Given the description of an element on the screen output the (x, y) to click on. 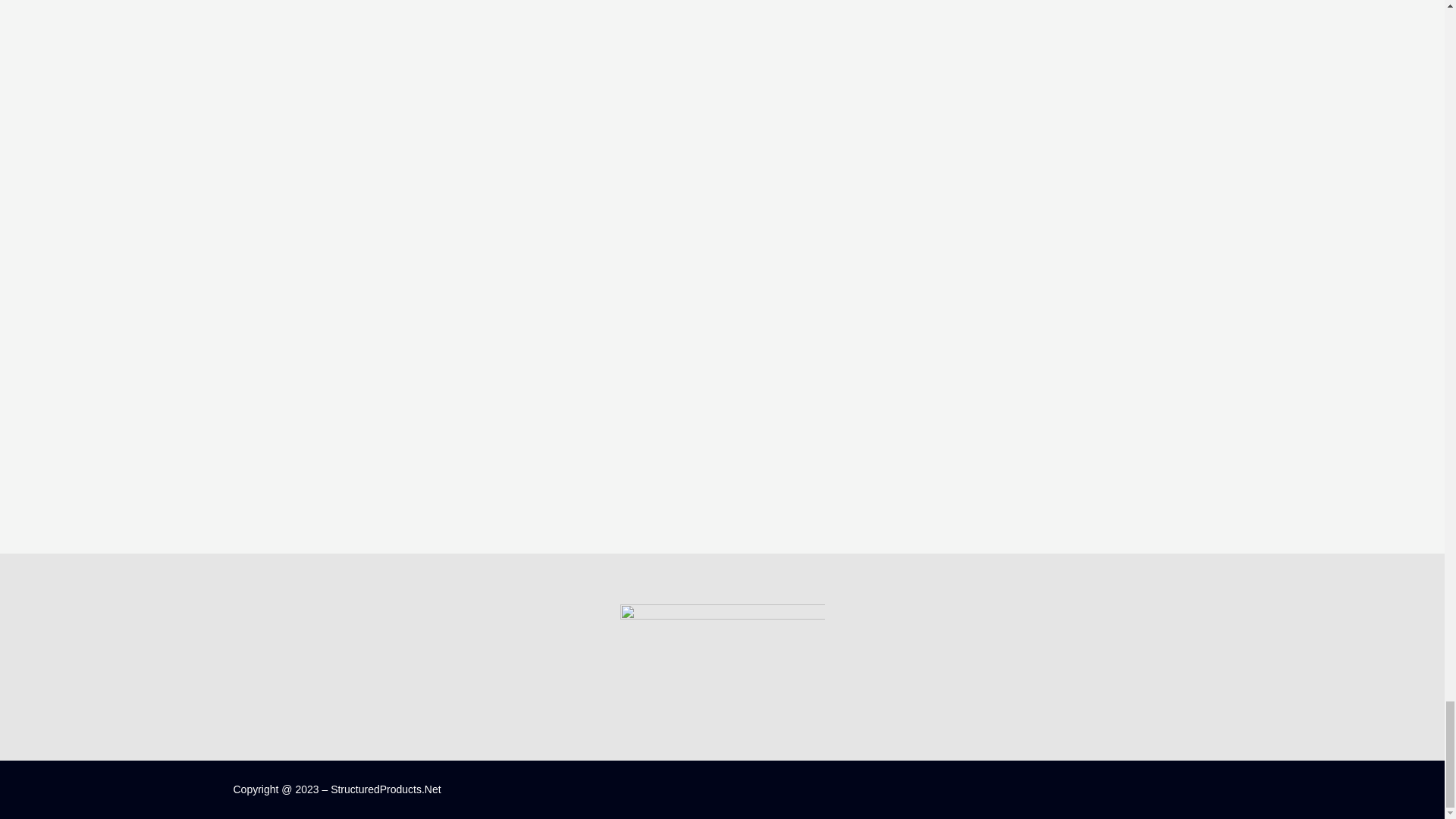
StructuredProducts.Net (385, 788)
HQSizeBlue-1 (722, 622)
